Given the description of an element on the screen output the (x, y) to click on. 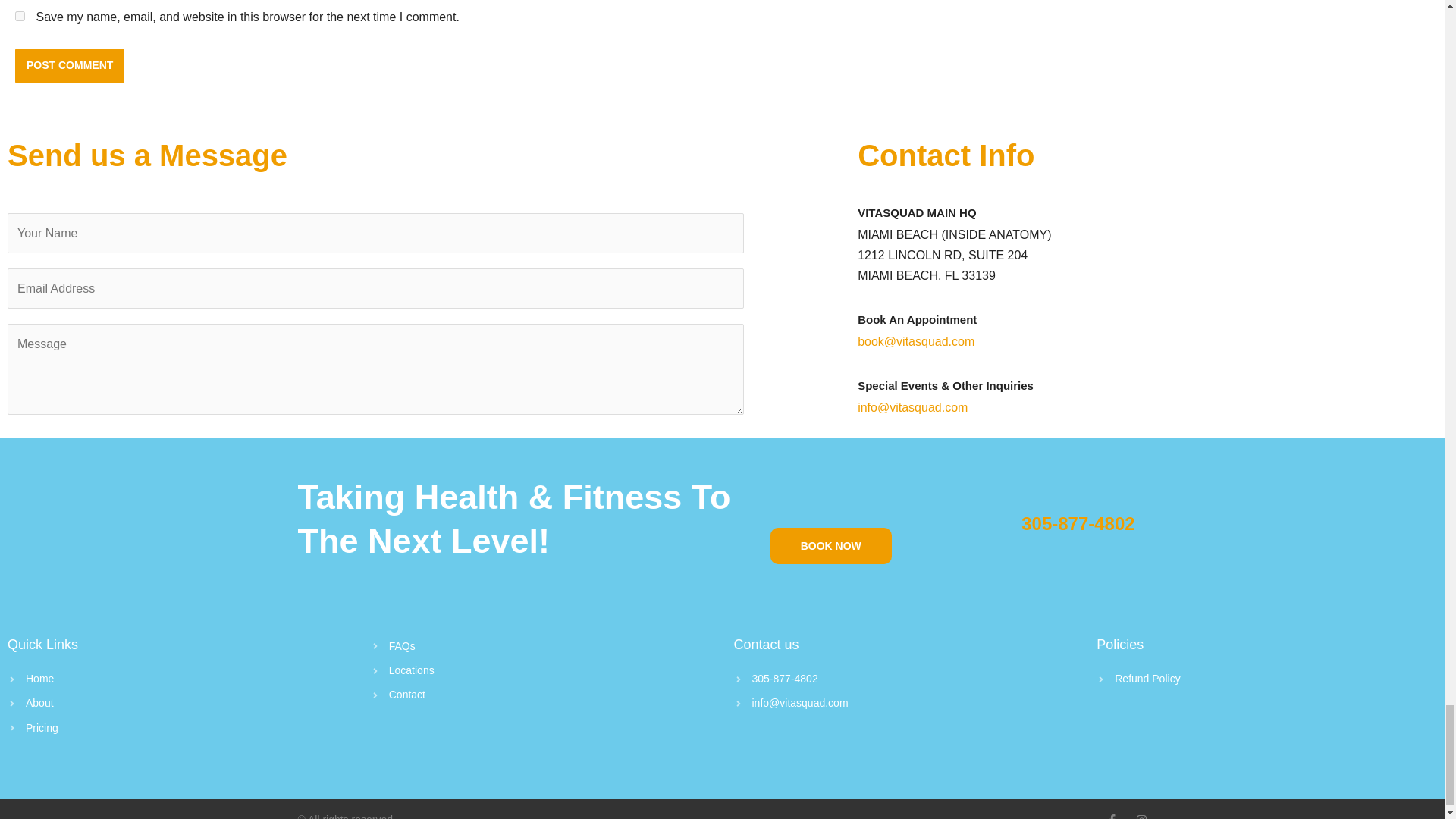
yes (19, 16)
Post Comment (68, 65)
